Given the description of an element on the screen output the (x, y) to click on. 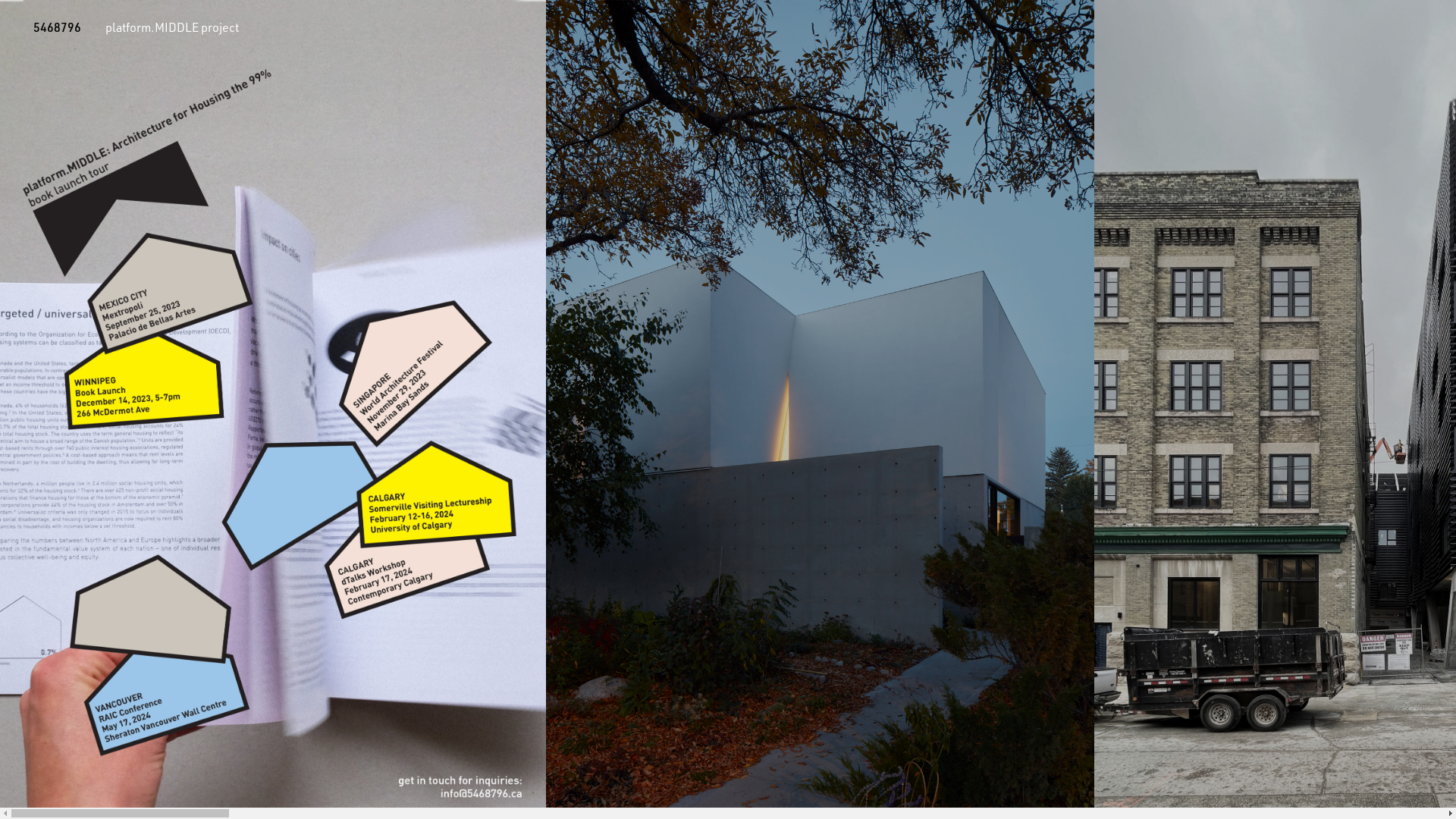
platform.MIDDLE project Element type: text (171, 26)
5468796 Element type: text (57, 26)
